Given the description of an element on the screen output the (x, y) to click on. 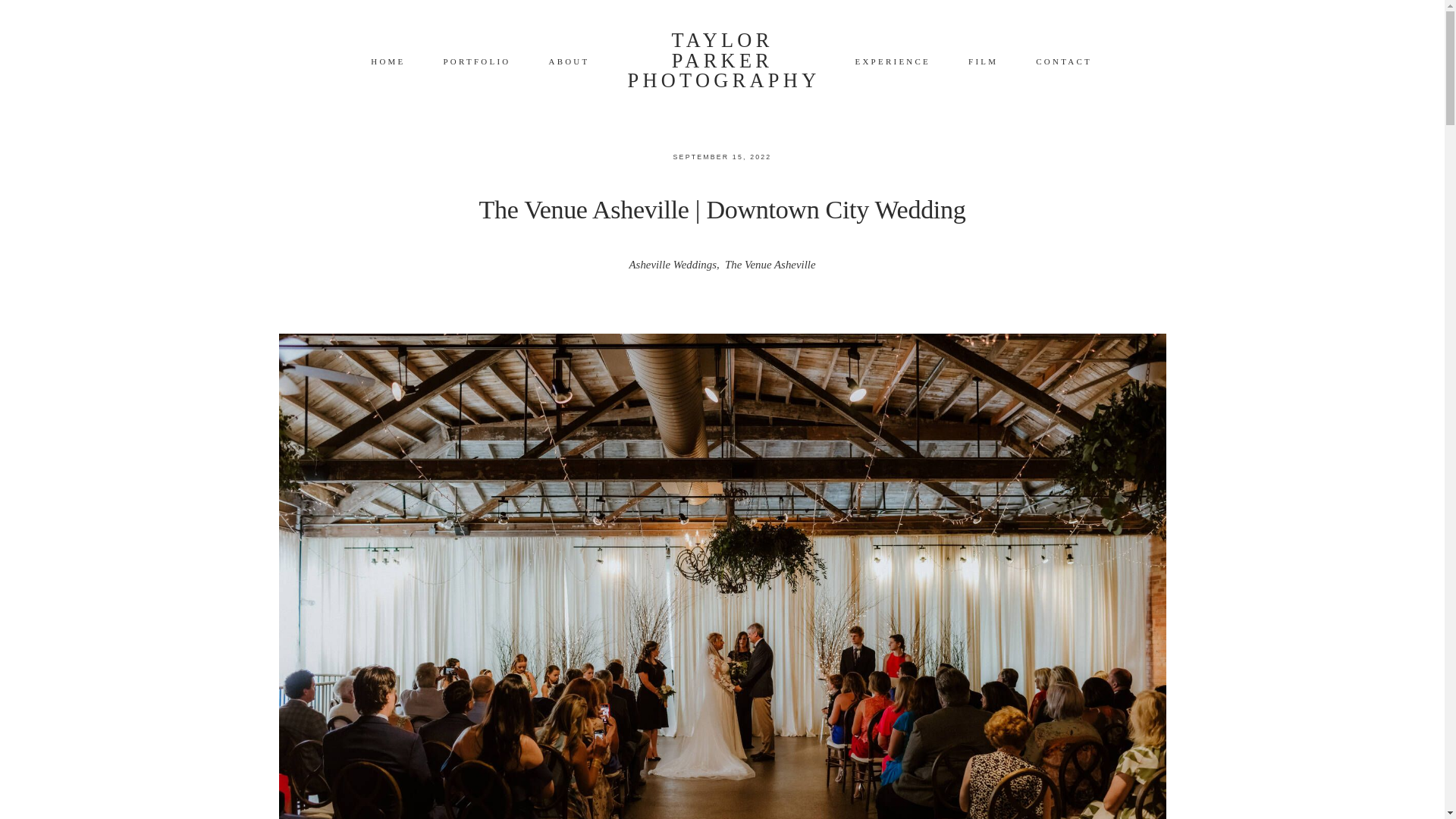
PORTFOLIO (477, 61)
EXPERIENCE (892, 61)
TAYLOR PARKER PHOTOGRAPHY (722, 60)
FILM (982, 61)
Asheville Weddings (672, 264)
HOME (387, 61)
CONTACT (1063, 61)
The Venue Asheville (770, 264)
ABOUT (568, 61)
